Given the description of an element on the screen output the (x, y) to click on. 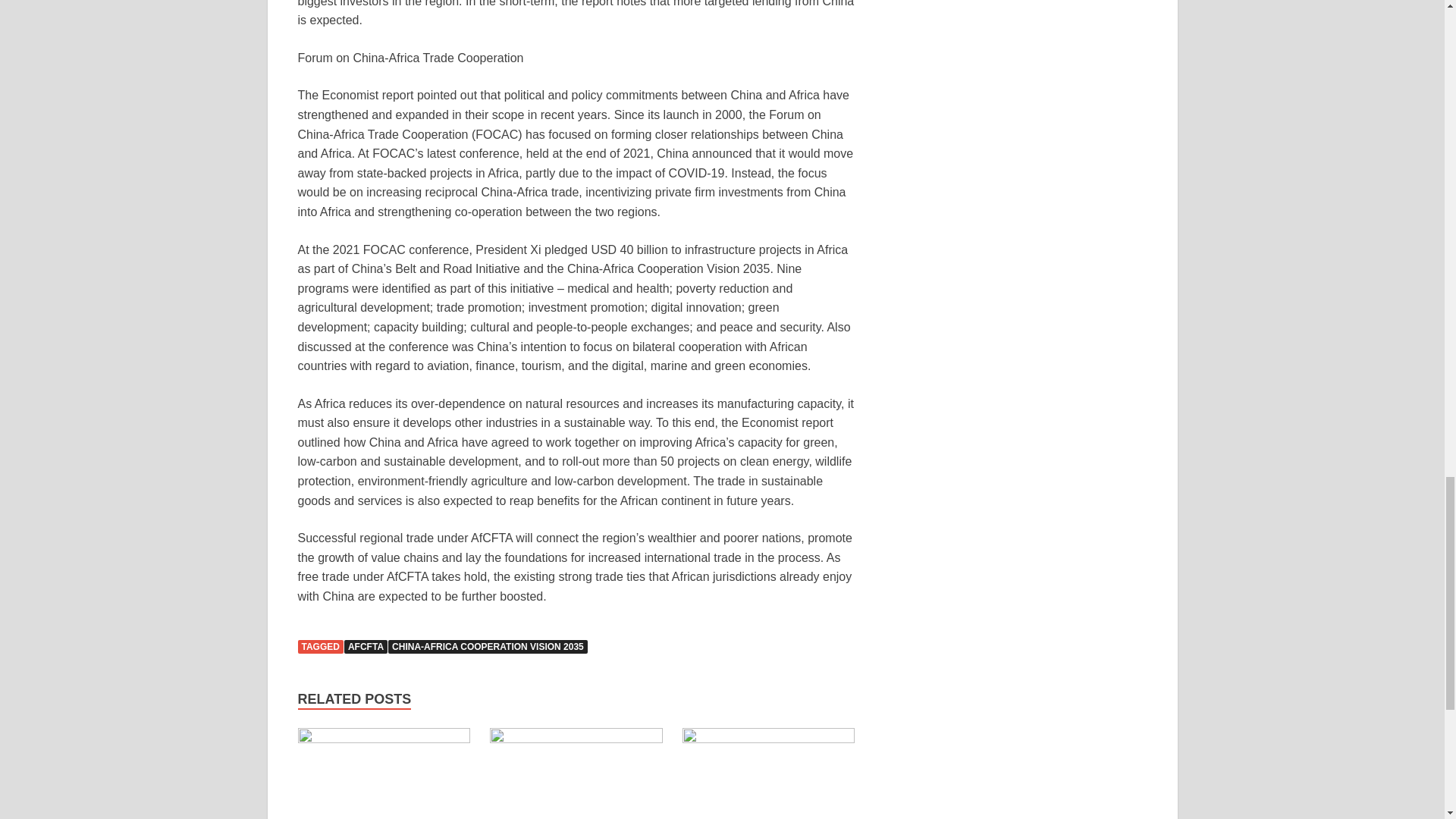
AFCFTA (365, 646)
CHINA-AFRICA COOPERATION VISION 2035 (488, 646)
